Given the description of an element on the screen output the (x, y) to click on. 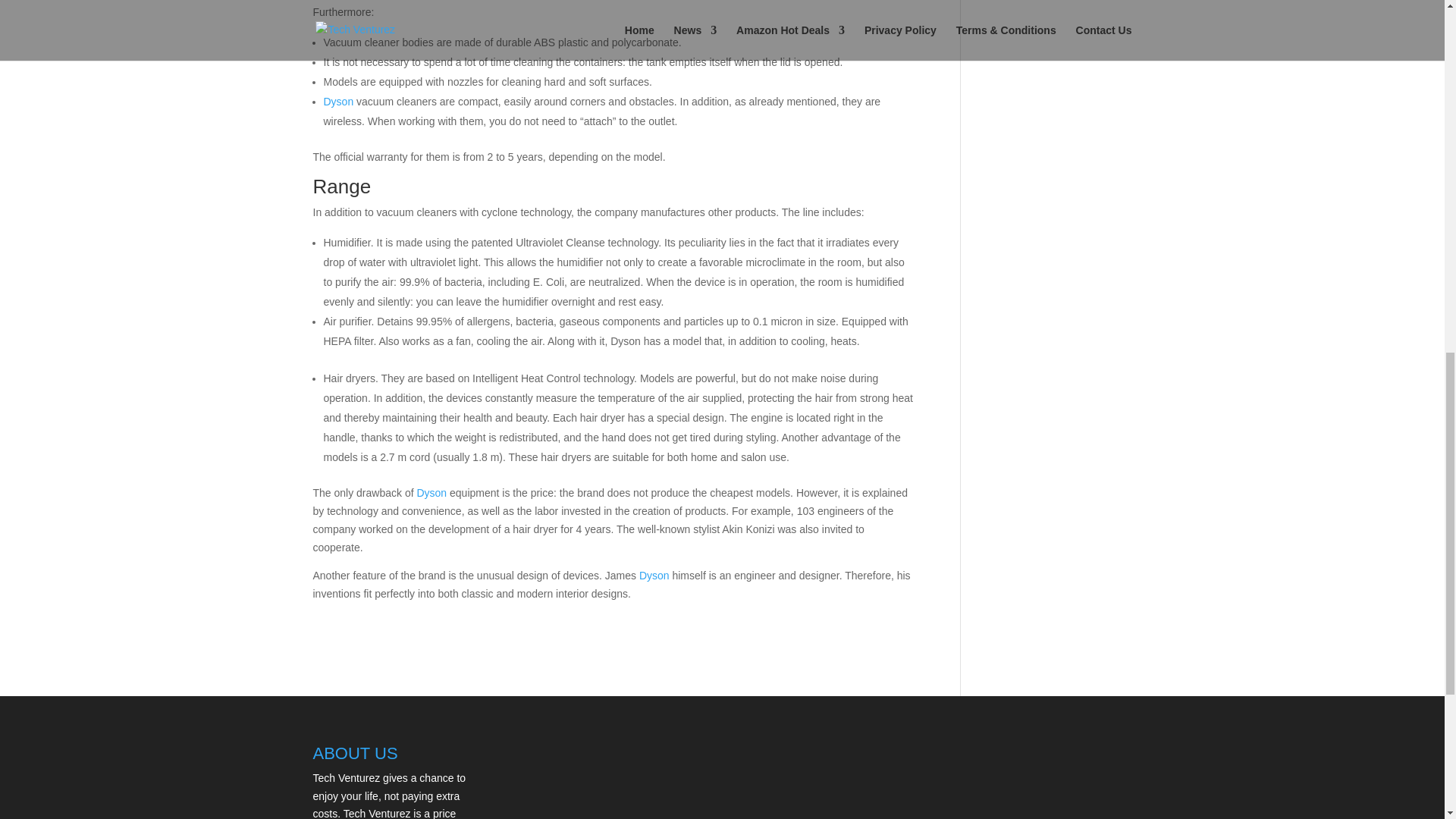
Dyson (654, 575)
Dyson (429, 492)
Dyson (338, 101)
